Given the description of an element on the screen output the (x, y) to click on. 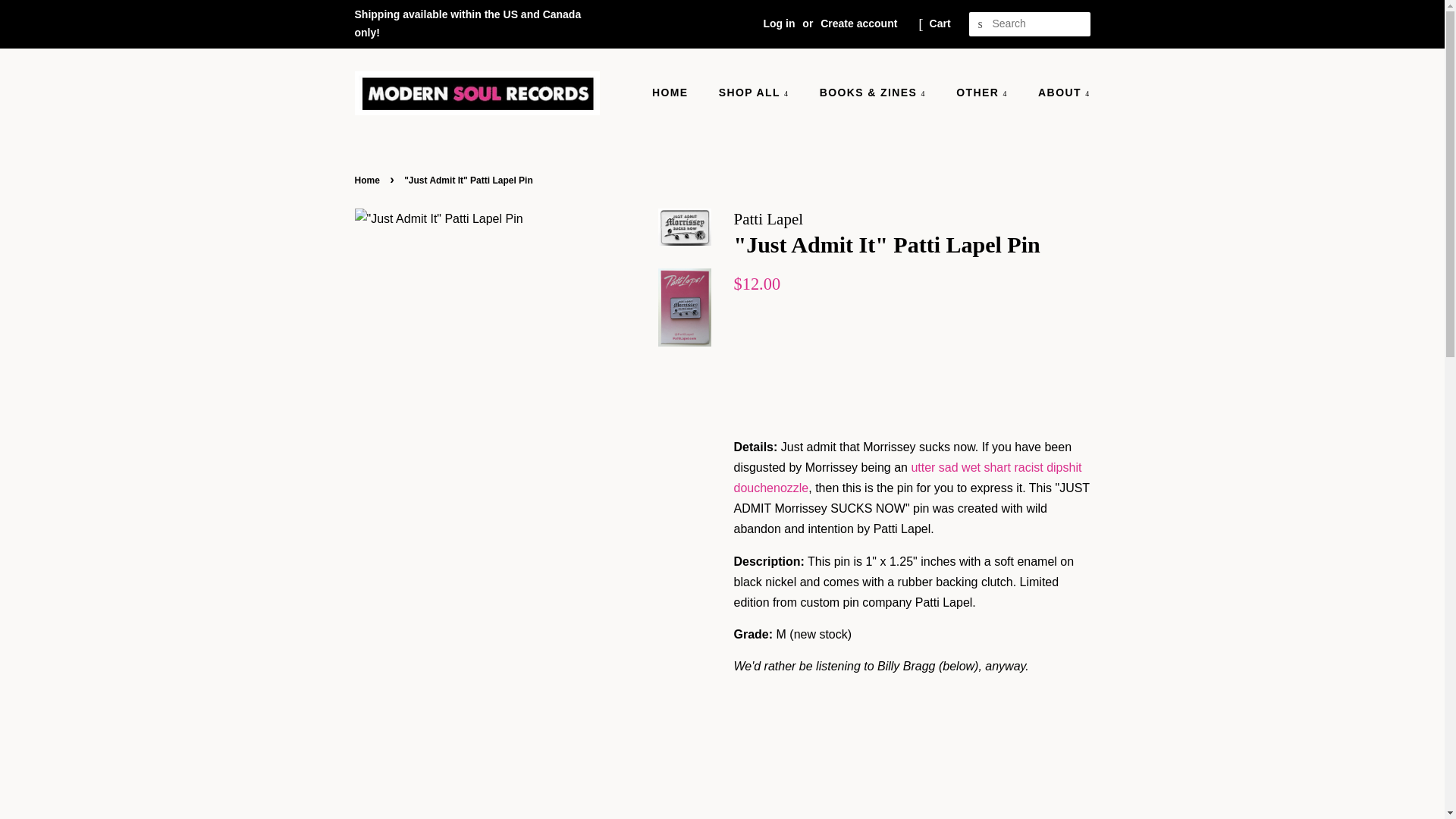
Create account (858, 23)
SEARCH (980, 24)
Cart (940, 24)
Log in (778, 23)
Back to the frontpage (369, 180)
